Given the description of an element on the screen output the (x, y) to click on. 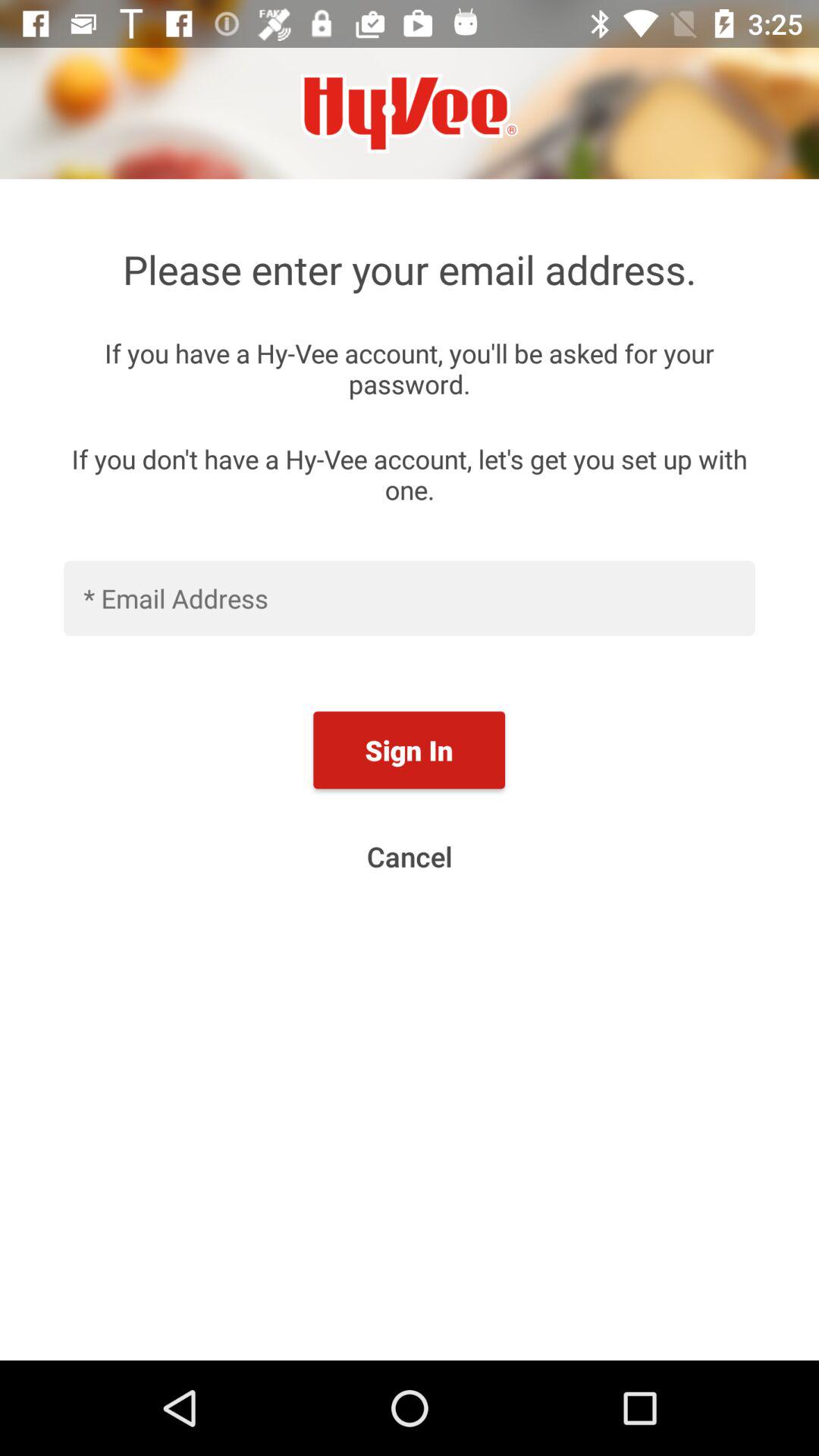
swipe to the sign in (409, 749)
